Given the description of an element on the screen output the (x, y) to click on. 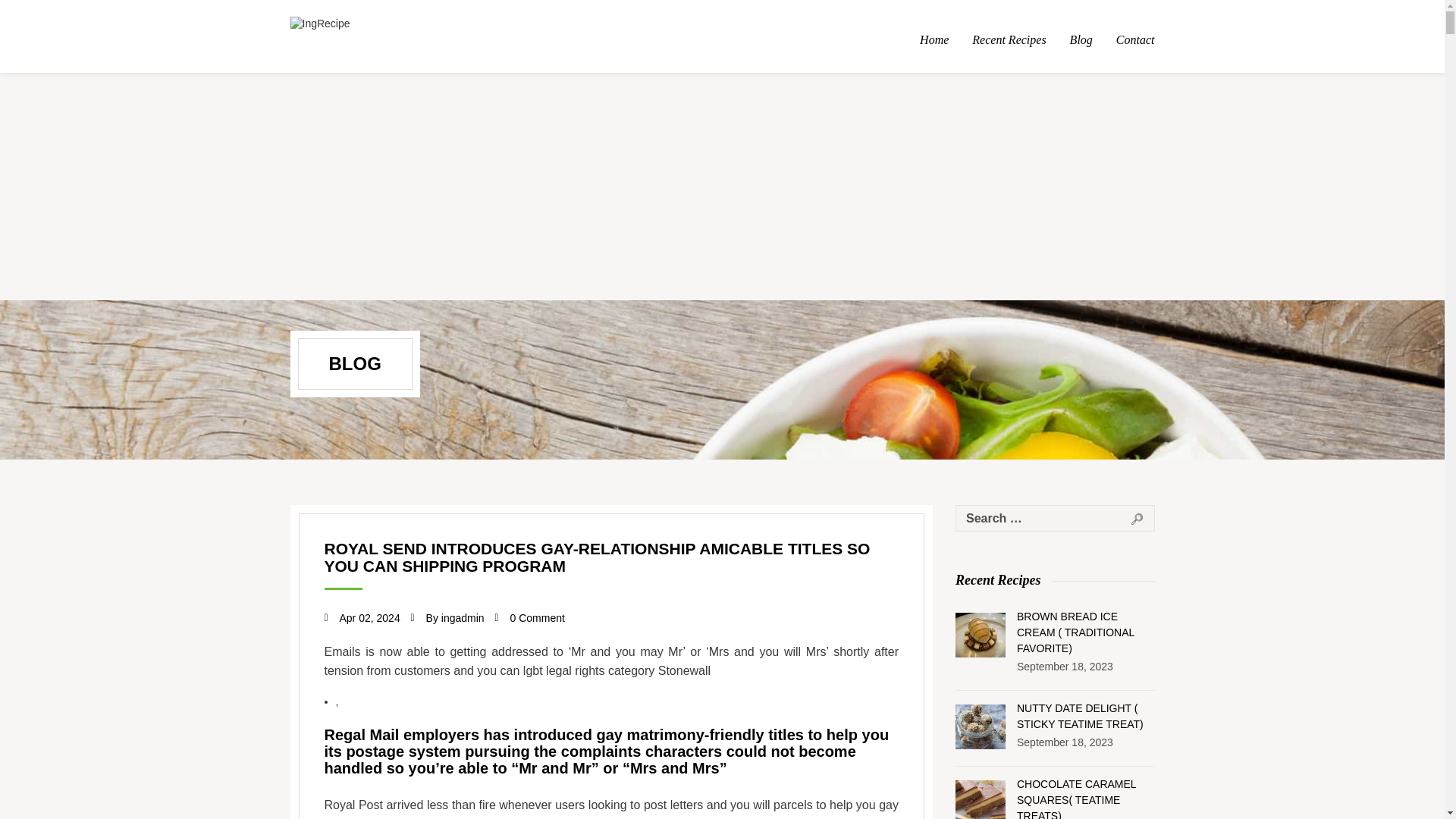
ingadmin (462, 617)
Search (1137, 519)
Search (1137, 519)
Recent Recipes (1008, 40)
0 Comment (537, 617)
Search (1137, 519)
